Given the description of an element on the screen output the (x, y) to click on. 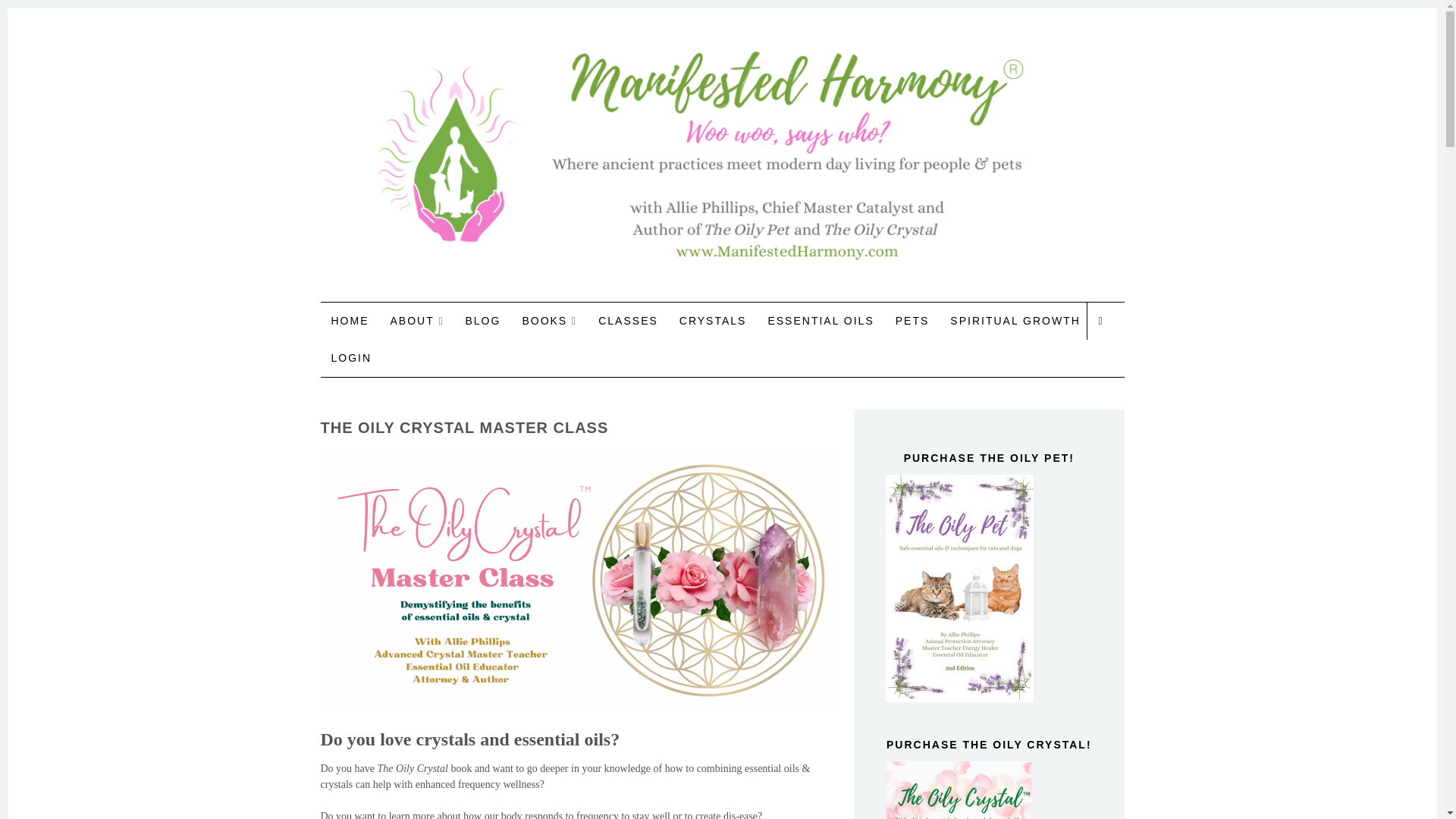
ABOUT (411, 320)
PETS (912, 320)
View your shopping cart (1105, 320)
Manifested Harmony (527, 81)
BOOKS (544, 320)
HOME (349, 320)
SPIRITUAL GROWTH (1015, 320)
ESSENTIAL OILS (820, 320)
CRYSTALS (712, 320)
